Given the description of an element on the screen output the (x, y) to click on. 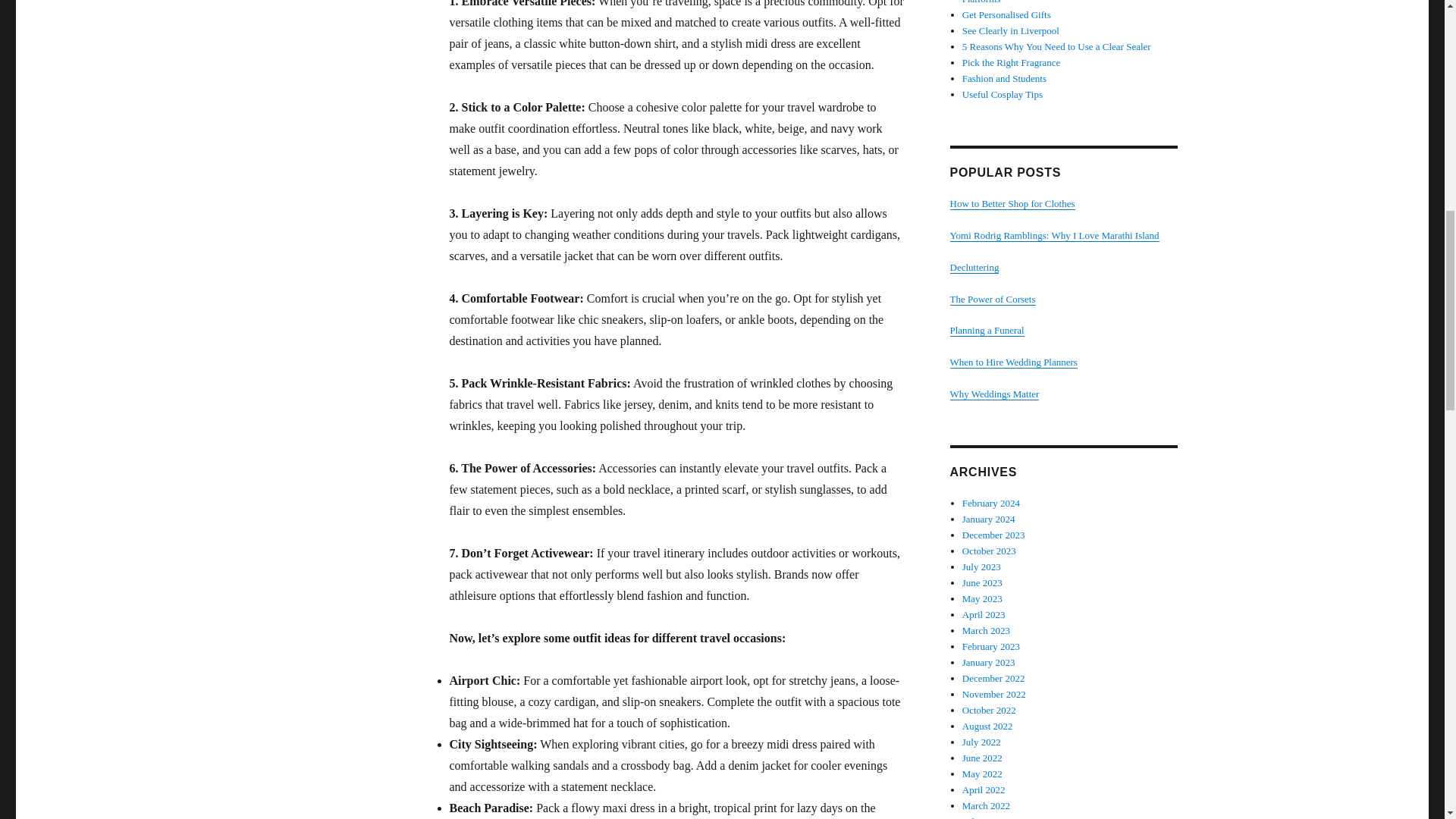
The Power of Corsets (992, 297)
May 2023 (982, 598)
Decluttering (973, 266)
Discover Unmatched Styles at Trendsetting Online Platforms (1062, 2)
Pick the Right Fragrance (1011, 61)
Planning a Funeral (986, 329)
How to Better Shop for Clothes (1011, 203)
July 2023 (981, 566)
January 2024 (988, 518)
June 2023 (982, 582)
